Given the description of an element on the screen output the (x, y) to click on. 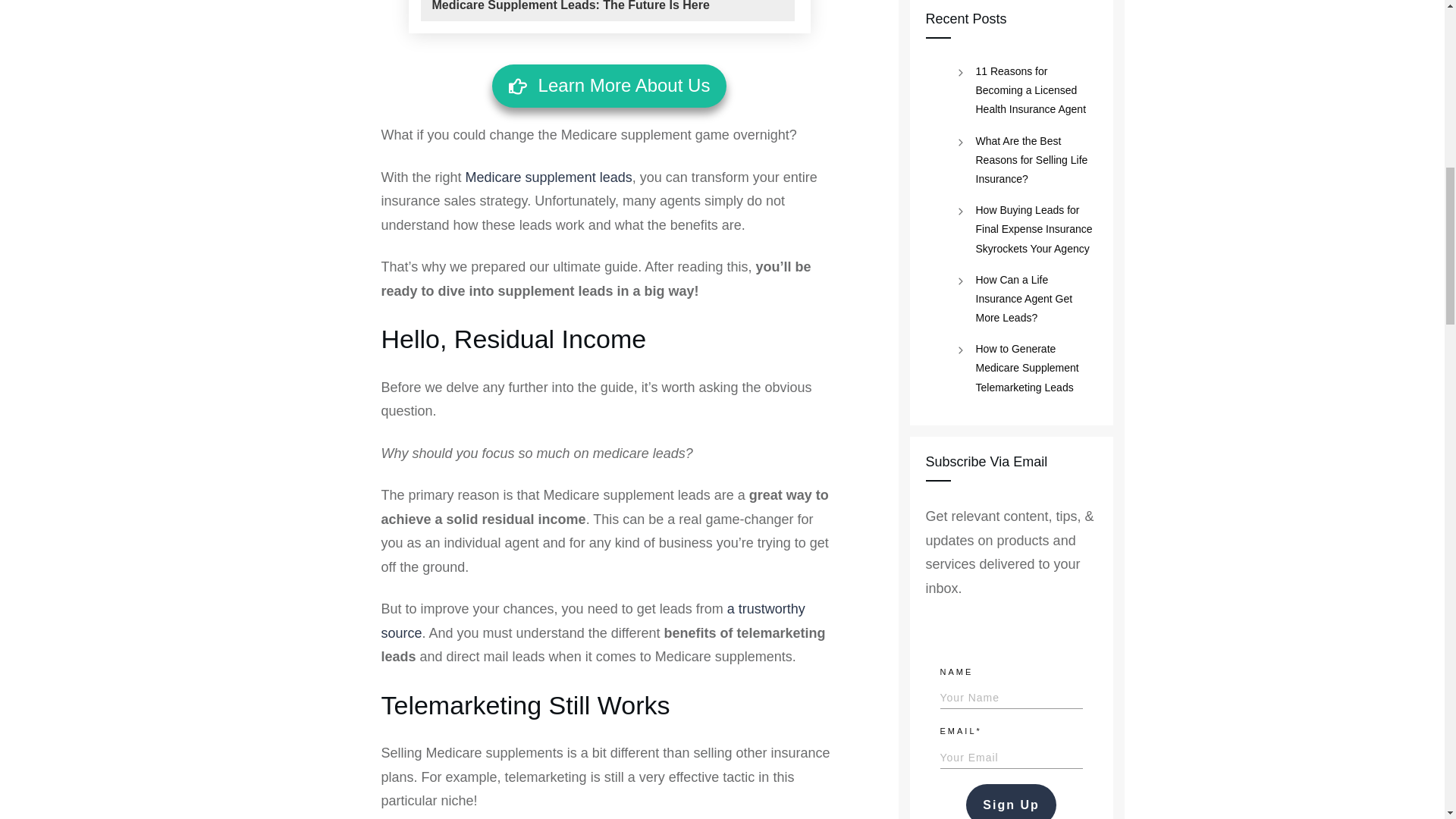
Medicare supplement leads (548, 177)
Medicare Supplement Leads: The Future Is Here (571, 6)
Learn More About Us (609, 85)
Medicare Supplement Leads: The Future Is Here (571, 6)
a trustworthy source (592, 620)
